Given the description of an element on the screen output the (x, y) to click on. 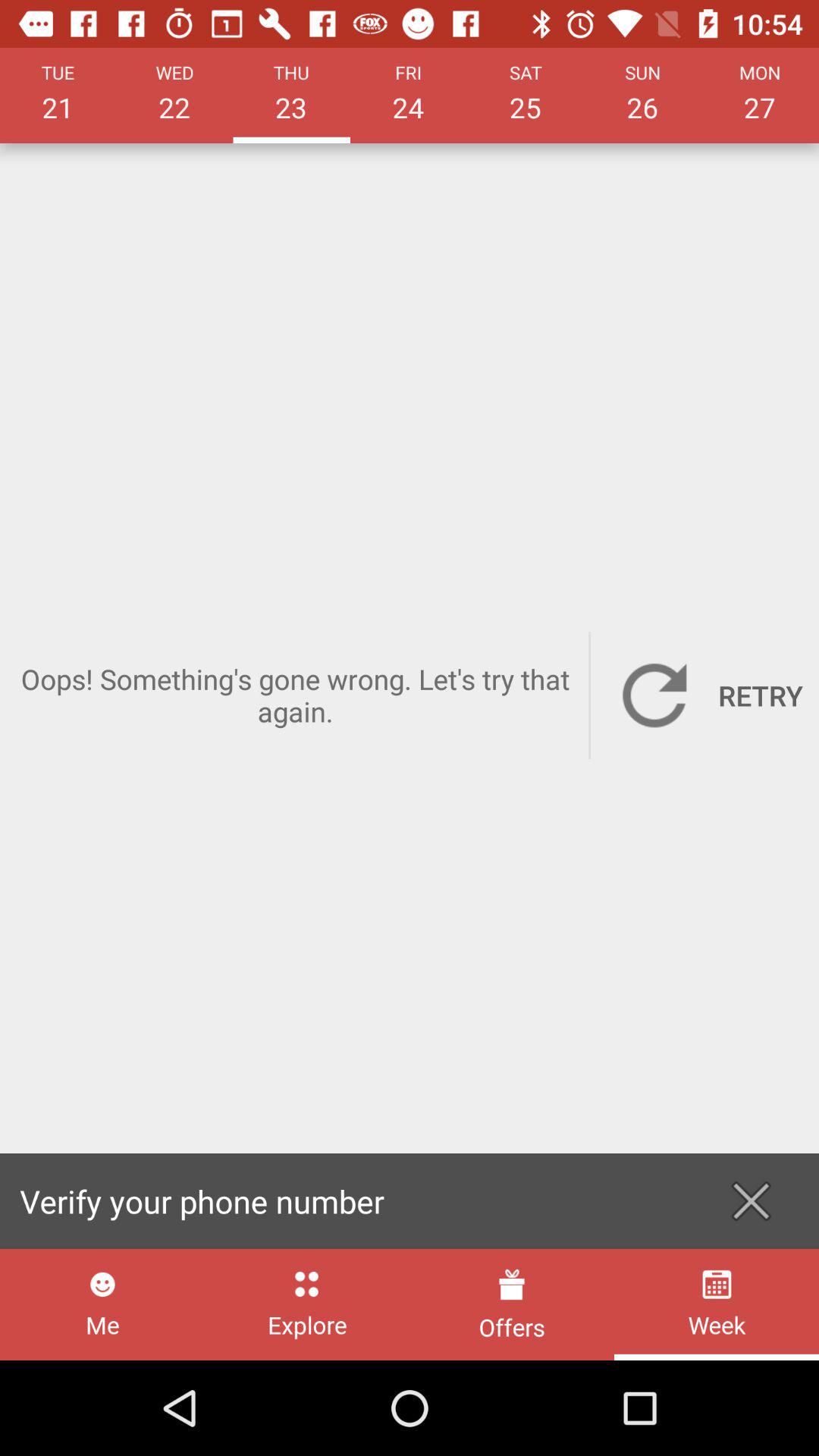
launch me at the bottom left corner (101, 1304)
